Given the description of an element on the screen output the (x, y) to click on. 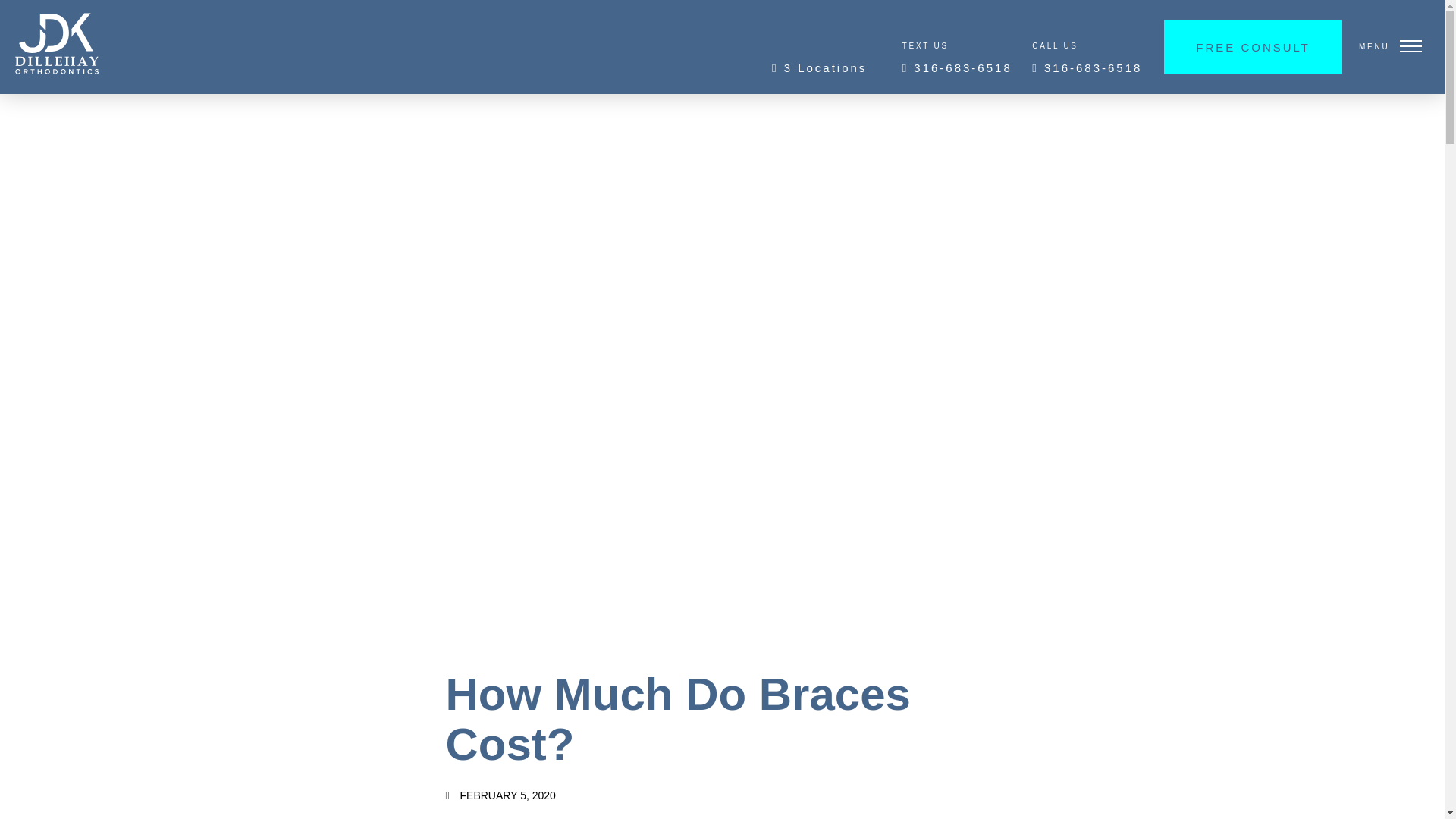
316-683-6518 (1086, 67)
3 Locations (818, 67)
FREE CONSULT (1252, 46)
316-683-6518 (956, 67)
